Given the description of an element on the screen output the (x, y) to click on. 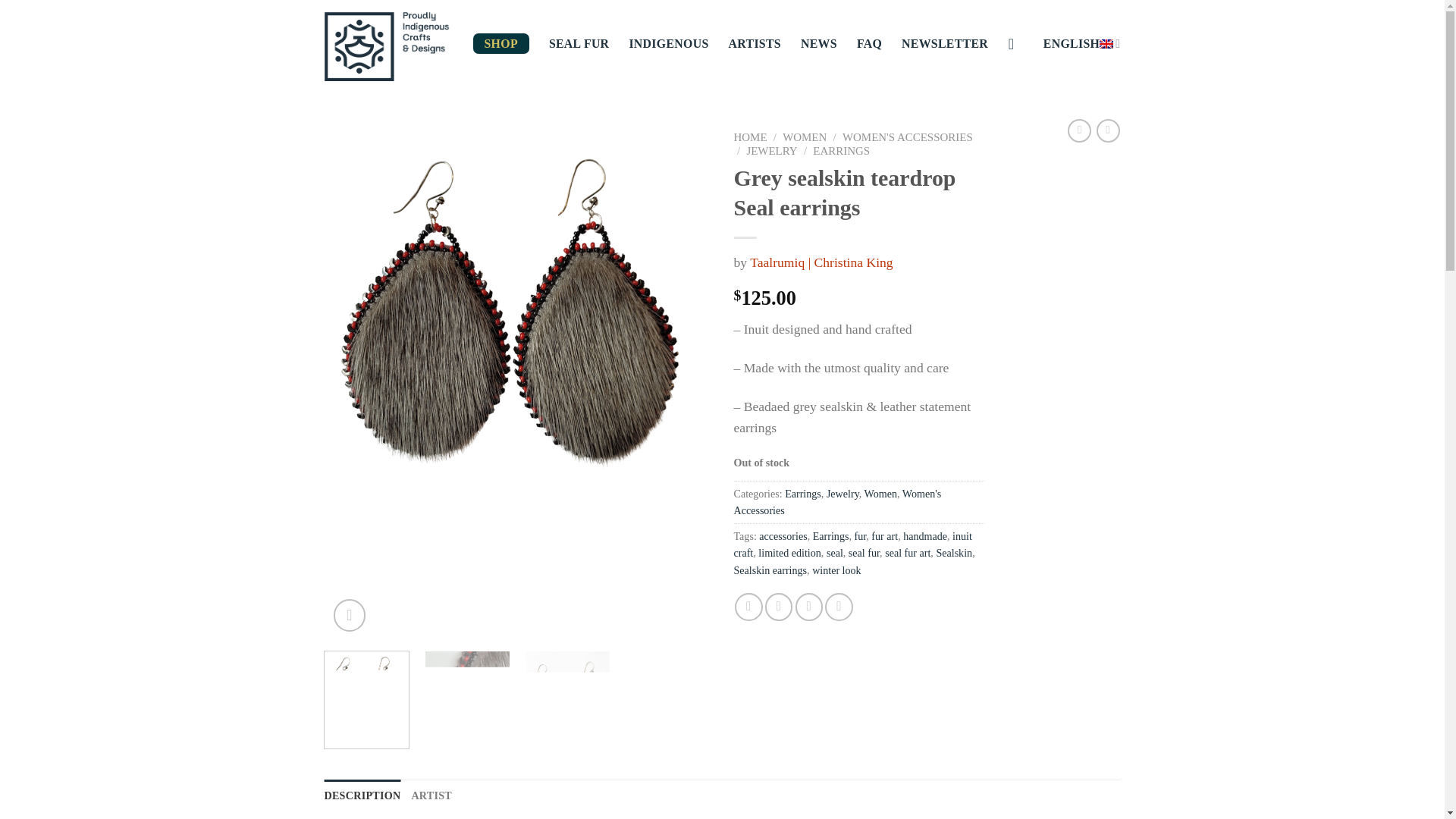
SHOP (501, 43)
WOMEN'S ACCESSORIES (907, 137)
Jewelry (843, 493)
Pin on Pinterest (838, 605)
accessories (782, 535)
SEAL FUR (579, 43)
Share on Twitter (778, 605)
NEWSLETTER (944, 43)
Email to a Friend (808, 605)
HOME (750, 137)
